Given the description of an element on the screen output the (x, y) to click on. 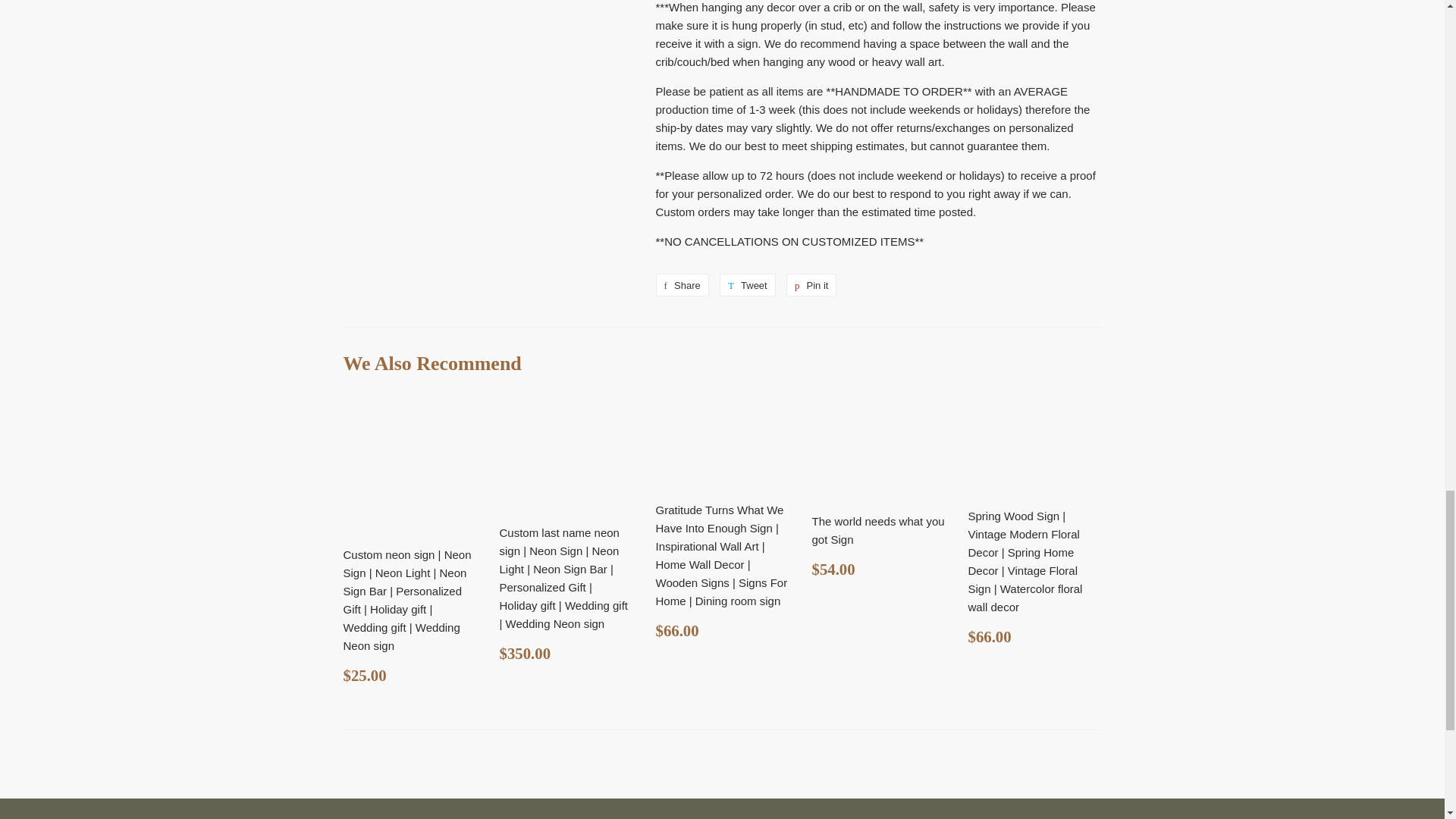
Share on Facebook (811, 284)
Tweet on Twitter (681, 284)
Pin on Pinterest (747, 284)
